Given the description of an element on the screen output the (x, y) to click on. 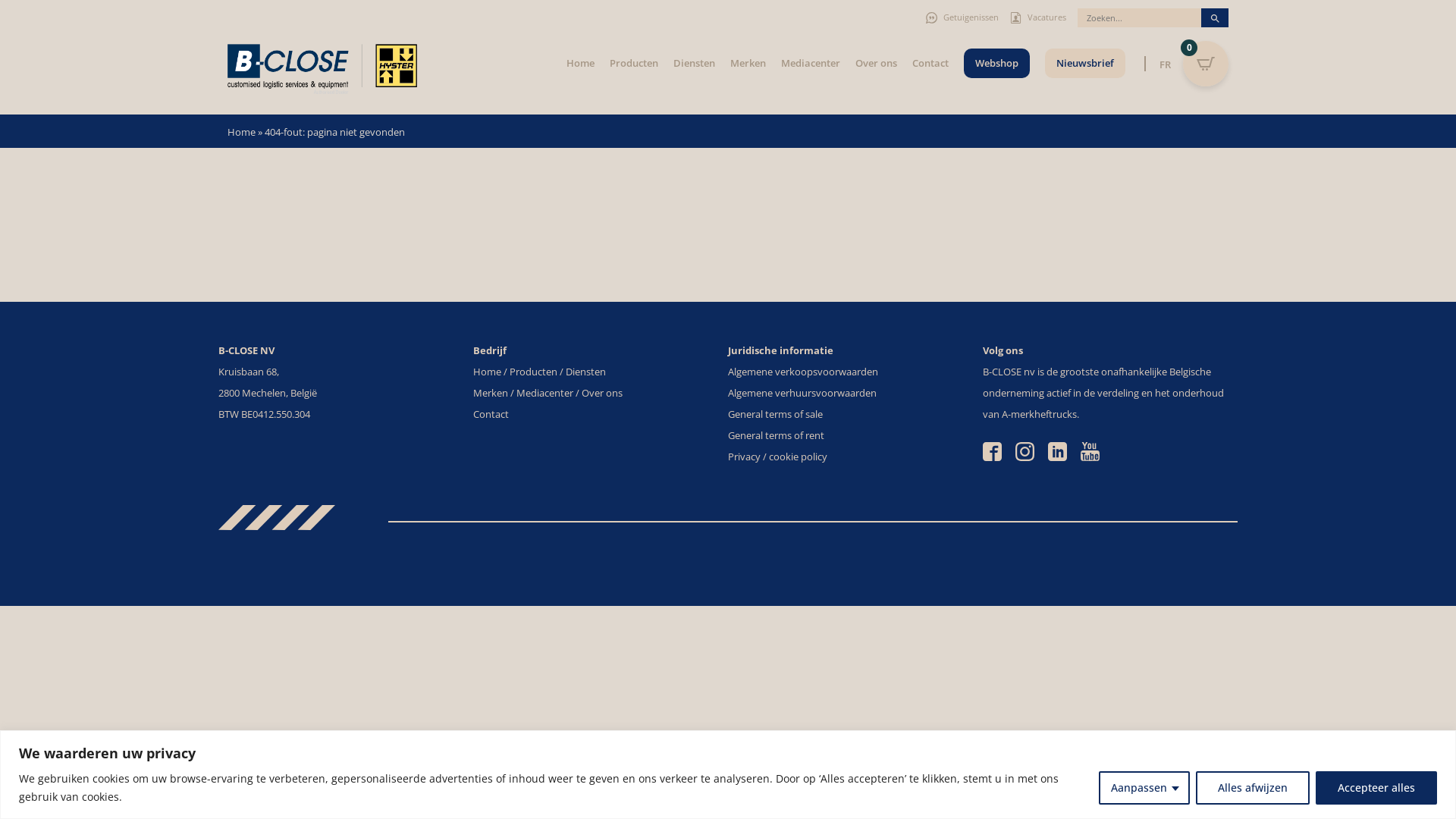
Webshop Element type: text (996, 62)
B-Close LinkedIn Element type: hover (1058, 450)
Algemene verhuursvoorwaarden Element type: text (802, 392)
Testimonials Element type: hover (931, 17)
Over ons Element type: text (876, 62)
Home Element type: text (241, 131)
Over ons Element type: text (601, 392)
Mediacenter Element type: text (544, 392)
Home Element type: text (487, 371)
General terms of sale Element type: text (775, 413)
Jobs Element type: hover (1015, 17)
Vacatures Element type: text (1046, 17)
B-Close Instagram Element type: hover (1025, 450)
FR Element type: text (1168, 64)
Algemene verkoopsvoorwaarden Element type: text (803, 371)
Diensten Element type: text (585, 371)
Home Element type: text (580, 62)
Mediacenter Element type: text (810, 62)
Merken Element type: text (490, 392)
Privacy / cookie policy Element type: text (777, 456)
Getuigenissen Element type: text (970, 17)
Alles afwijzen Element type: text (1252, 786)
Contact Element type: text (490, 413)
General terms of rent Element type: text (776, 435)
Producten Element type: text (633, 62)
Diensten Element type: text (694, 62)
Contact Element type: text (930, 62)
0 Element type: text (1205, 63)
B-Close Element type: hover (322, 68)
Accepteer alles Element type: text (1376, 786)
Aanpassen Element type: text (1143, 786)
B-Close facebook Element type: hover (993, 450)
Merken Element type: text (747, 62)
B-Close YouTube Element type: hover (1089, 450)
Producten Element type: text (533, 371)
Zoekknop Element type: text (1214, 17)
Nieuwsbrief Element type: text (1084, 62)
